Given the description of an element on the screen output the (x, y) to click on. 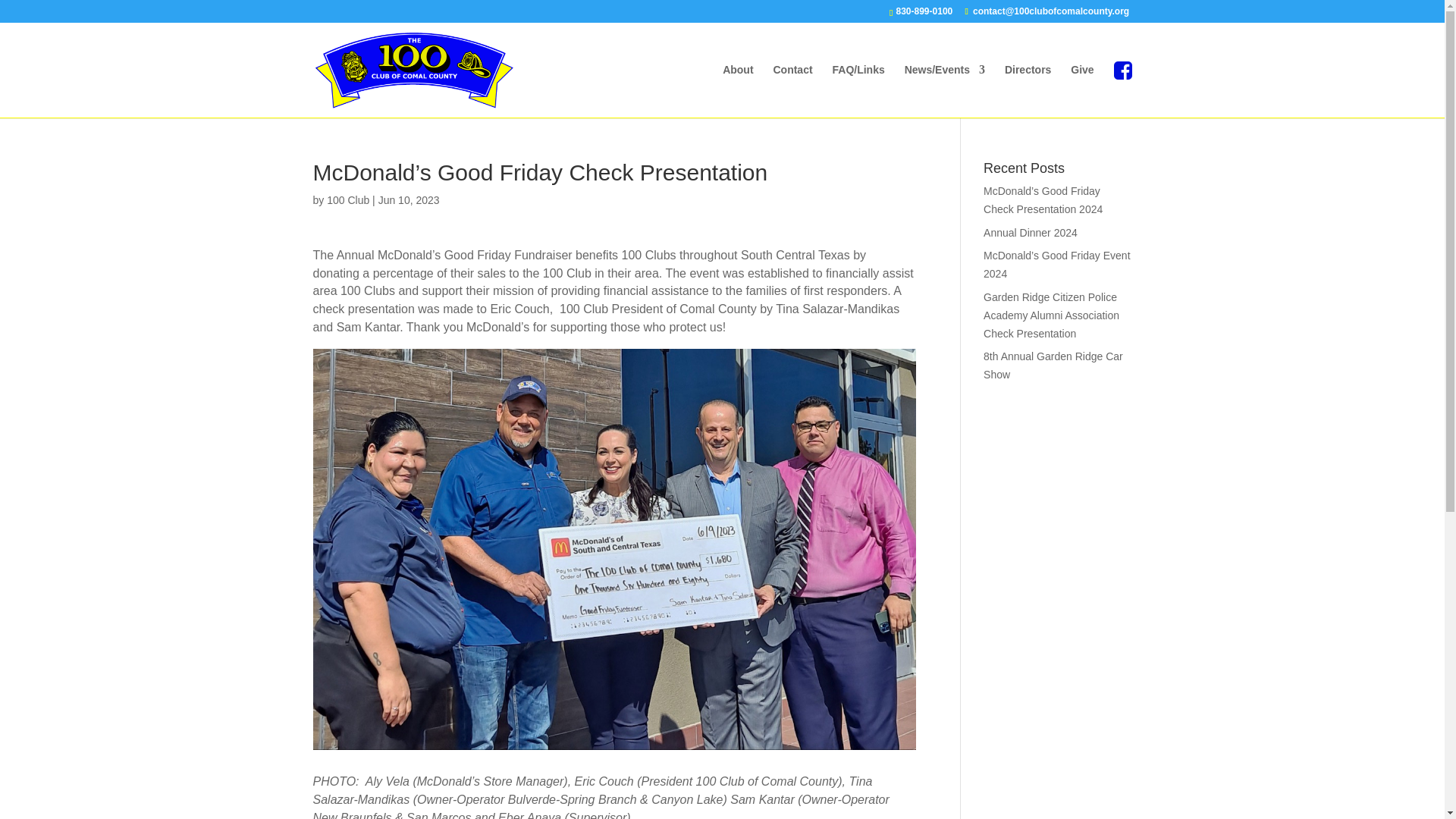
100 Club (347, 200)
8th Annual Garden Ridge Car Show (1053, 365)
Directors (1027, 88)
Posts by 100 Club (347, 200)
Annual Dinner 2024 (1030, 232)
